Given the description of an element on the screen output the (x, y) to click on. 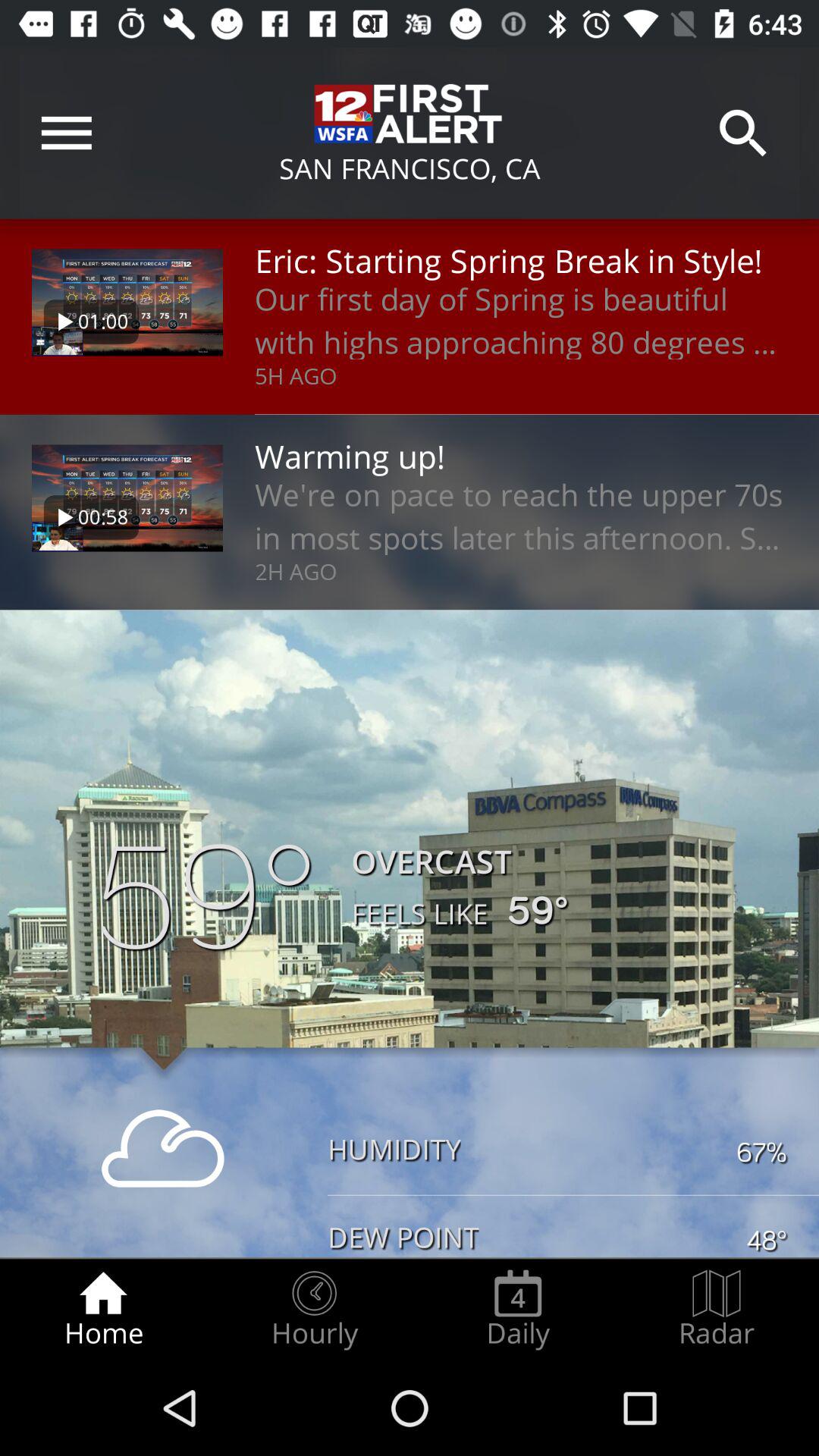
scroll to the hourly item (314, 1309)
